Given the description of an element on the screen output the (x, y) to click on. 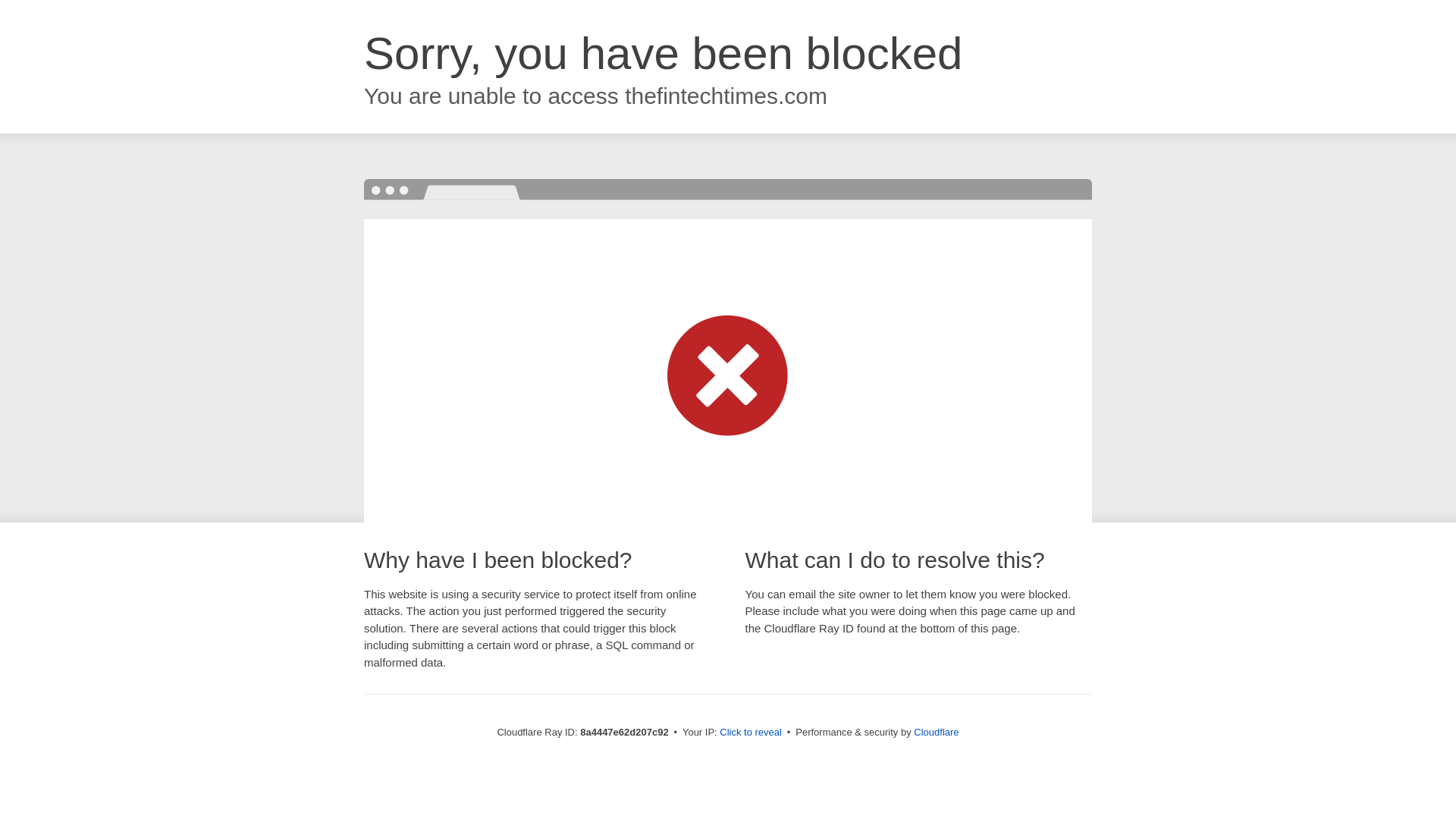
Click to reveal (750, 732)
Cloudflare (936, 731)
